Given the description of an element on the screen output the (x, y) to click on. 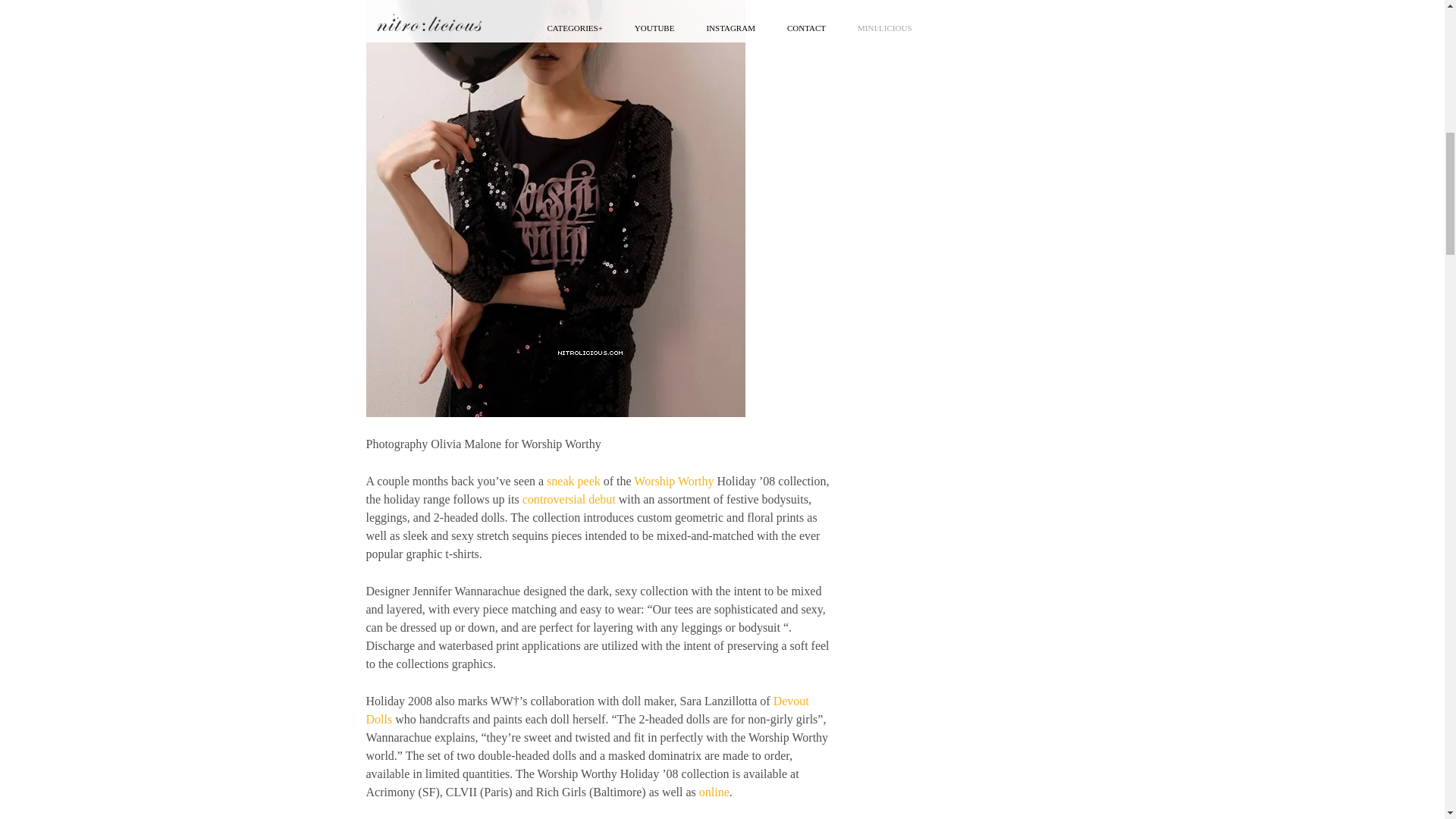
sneak peek (573, 481)
controversial debut (568, 499)
online (713, 791)
Worship Worthy (673, 481)
Devout Dolls (586, 709)
